Given the description of an element on the screen output the (x, y) to click on. 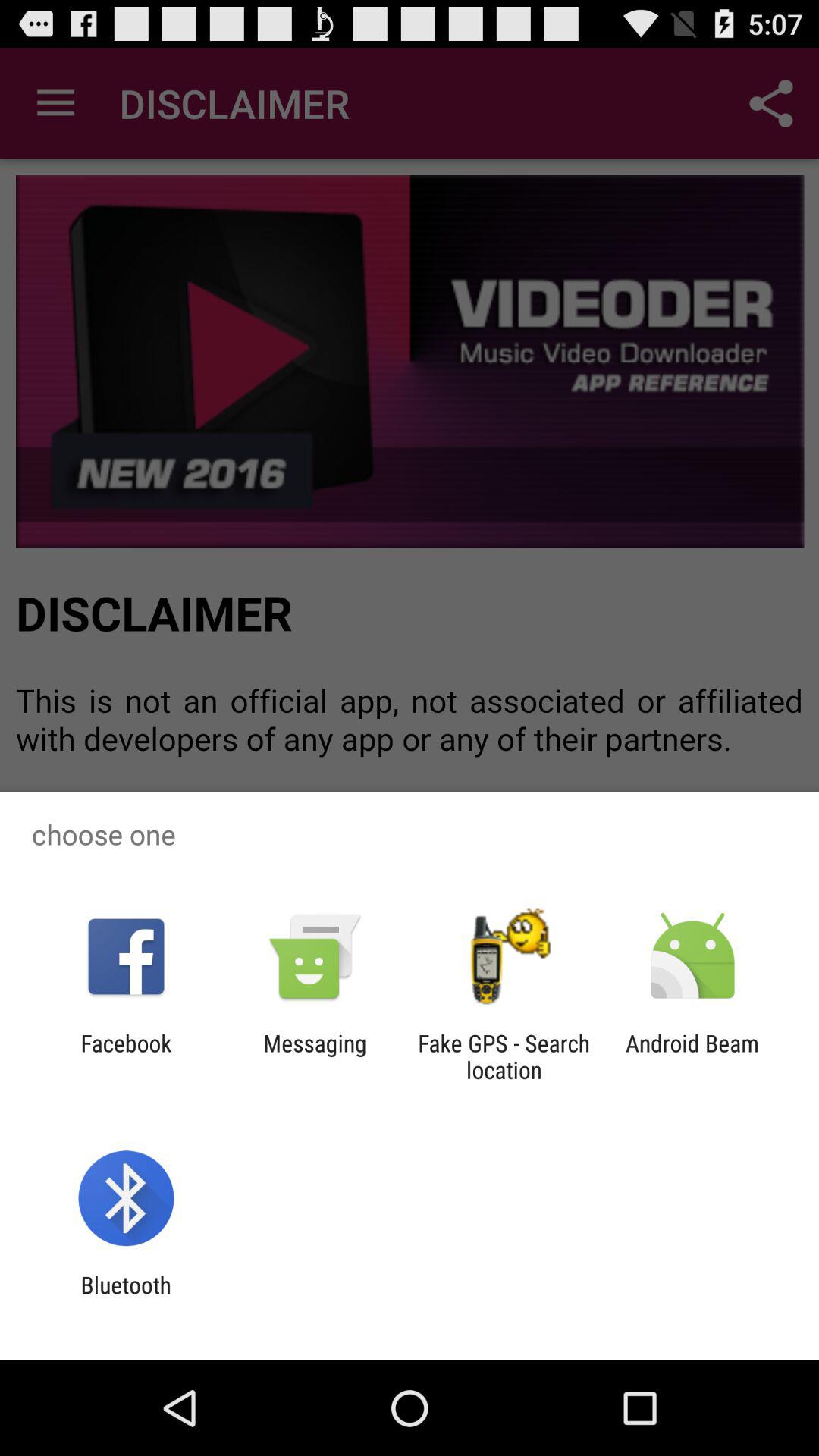
click icon to the left of android beam (503, 1056)
